Given the description of an element on the screen output the (x, y) to click on. 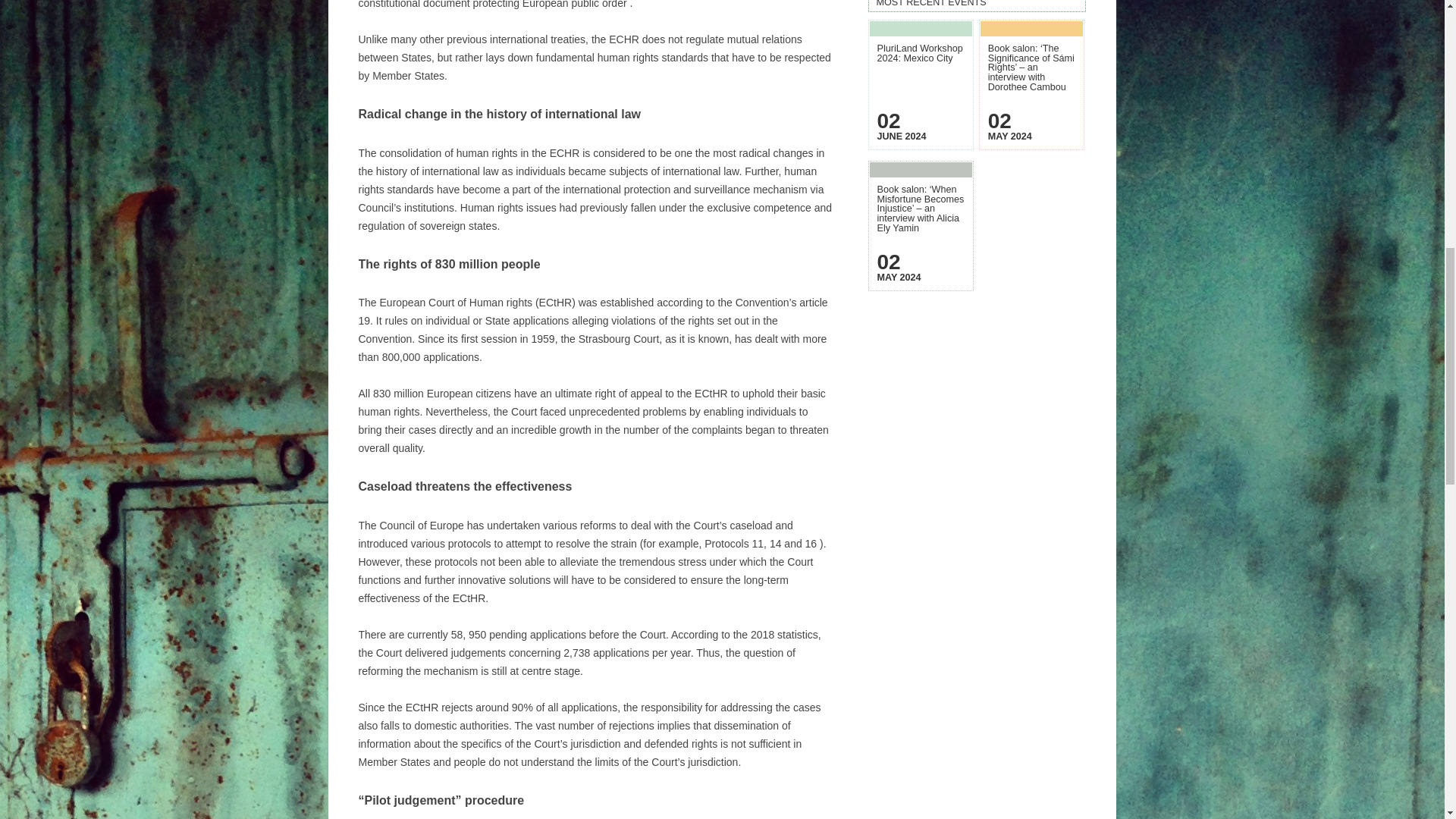
See upcoming and past events (977, 4)
